Given the description of an element on the screen output the (x, y) to click on. 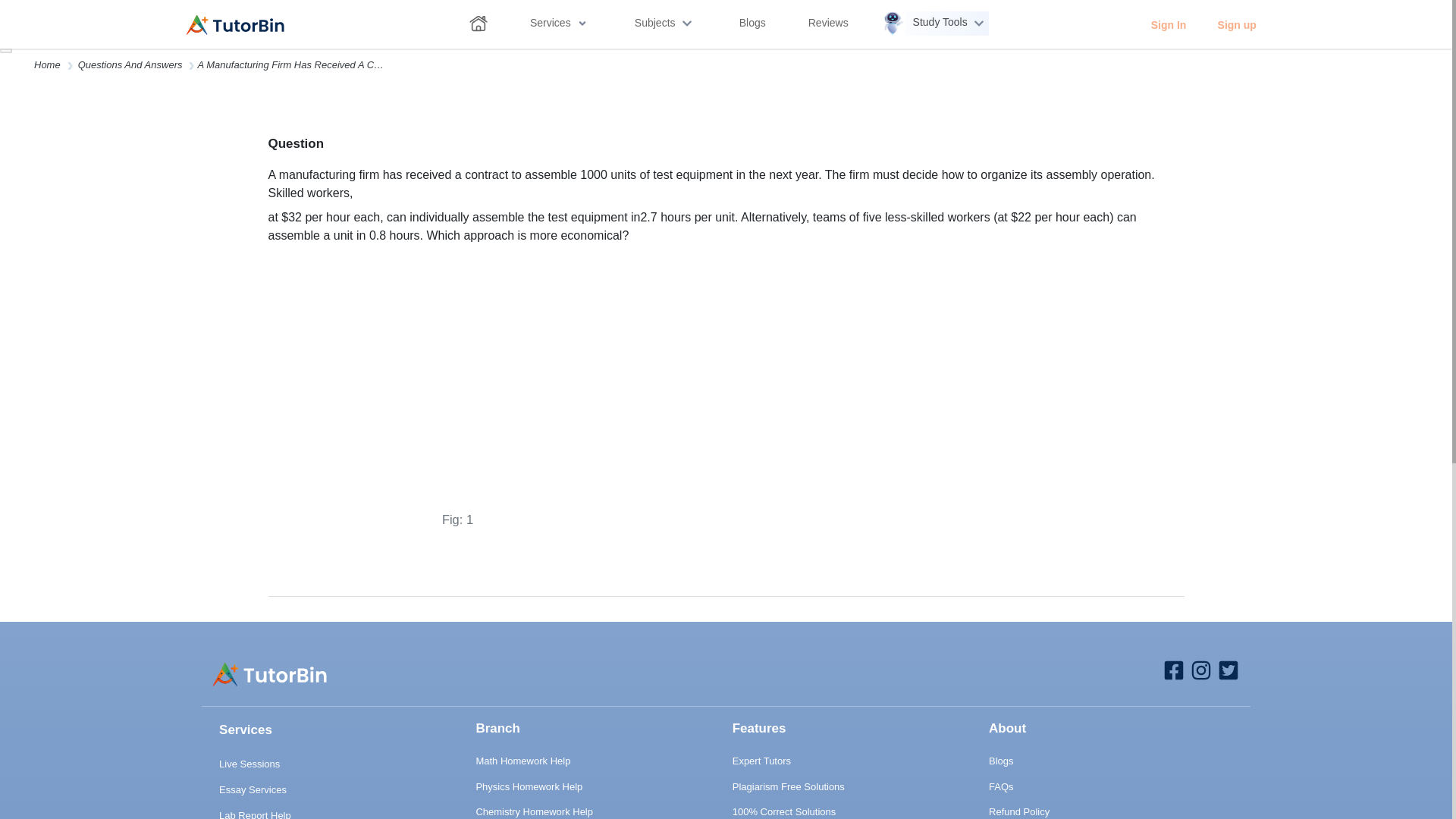
Sign In (1168, 24)
Reviews (828, 24)
questions-and-answers (129, 64)
Subjects (663, 23)
Sign up (1236, 24)
Home (47, 64)
Blogs (752, 24)
Study Tools (935, 22)
Services (558, 24)
